Given the description of an element on the screen output the (x, y) to click on. 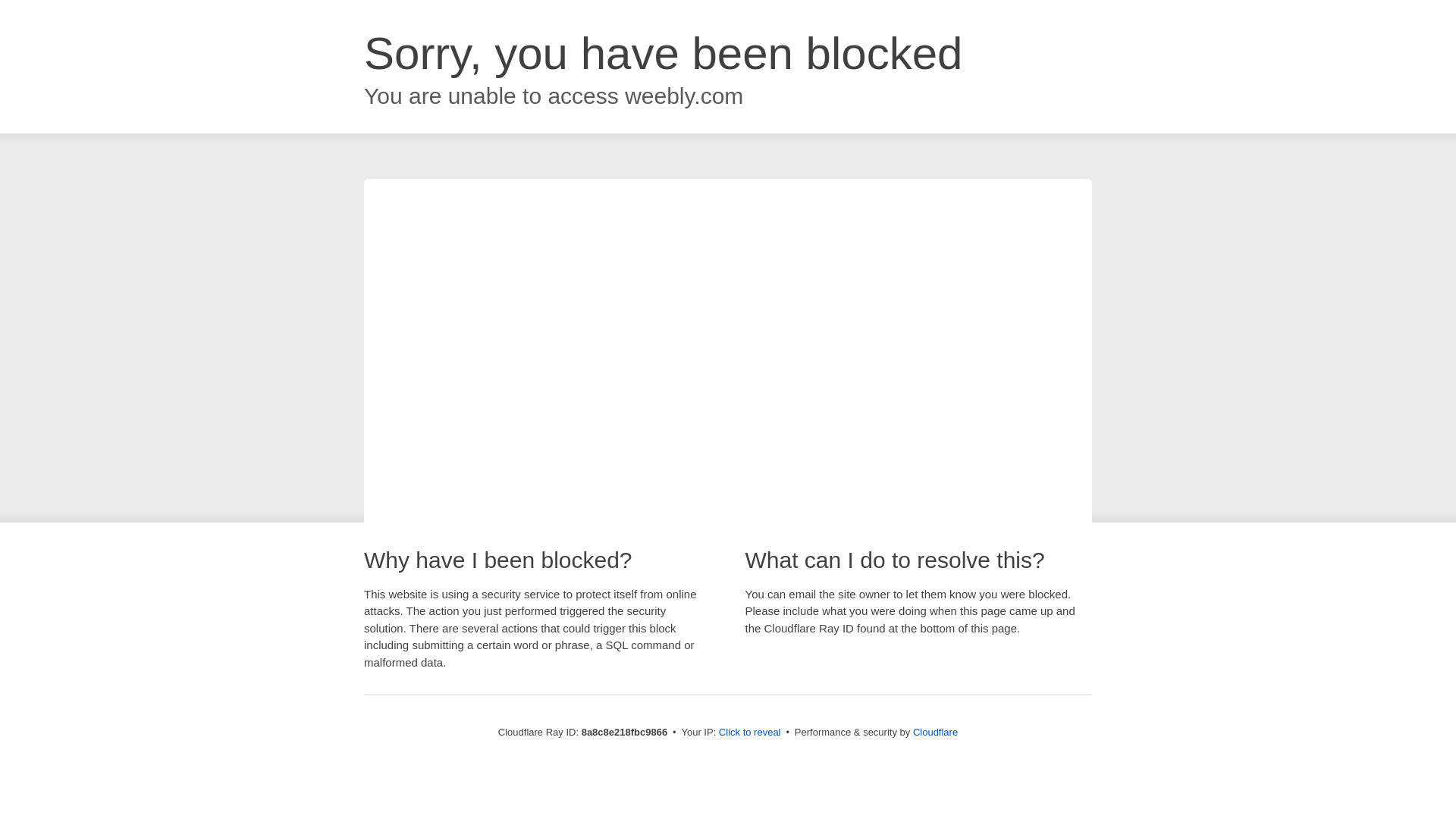
Cloudflare (935, 731)
Click to reveal (749, 732)
